Given the description of an element on the screen output the (x, y) to click on. 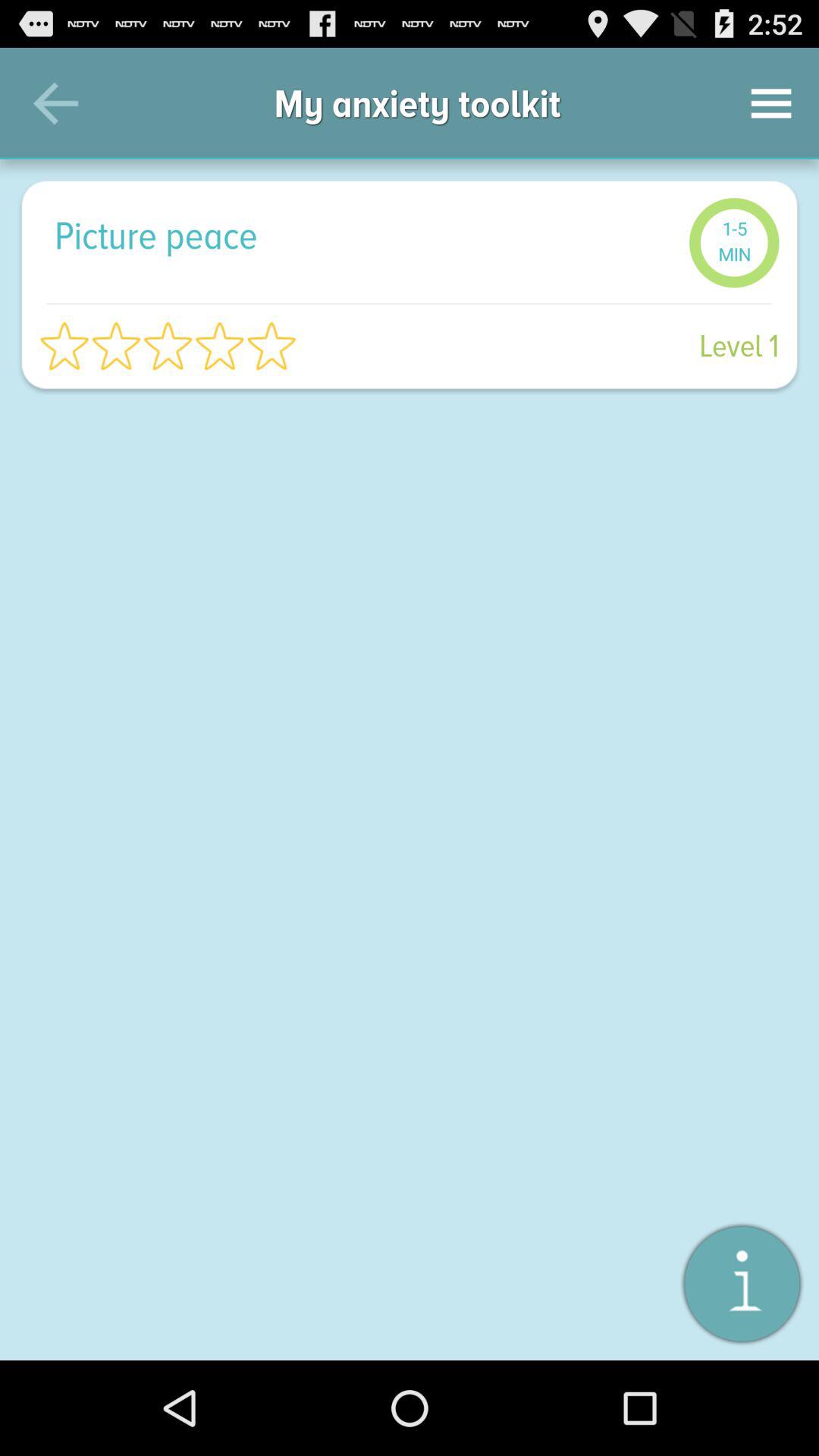
info button (742, 1283)
